Given the description of an element on the screen output the (x, y) to click on. 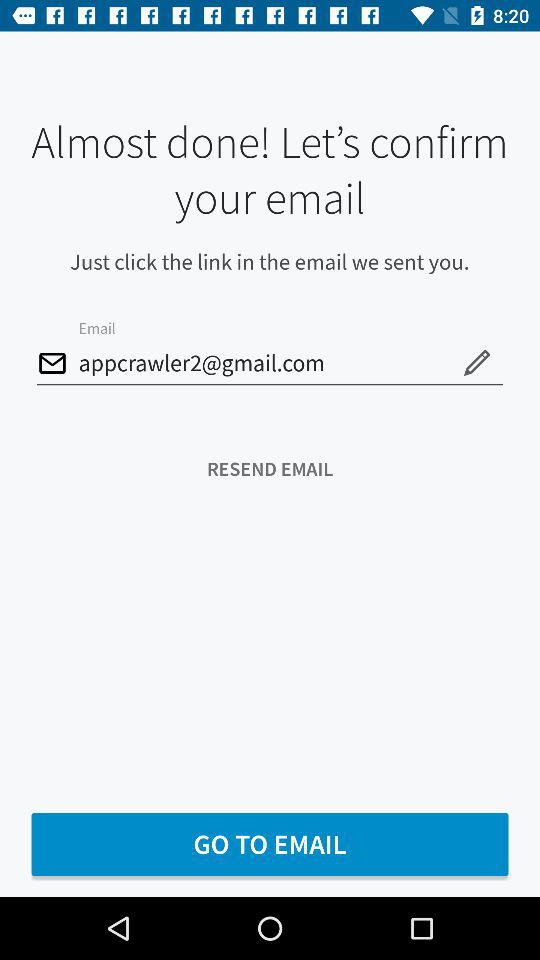
flip to resend email item (269, 468)
